Given the description of an element on the screen output the (x, y) to click on. 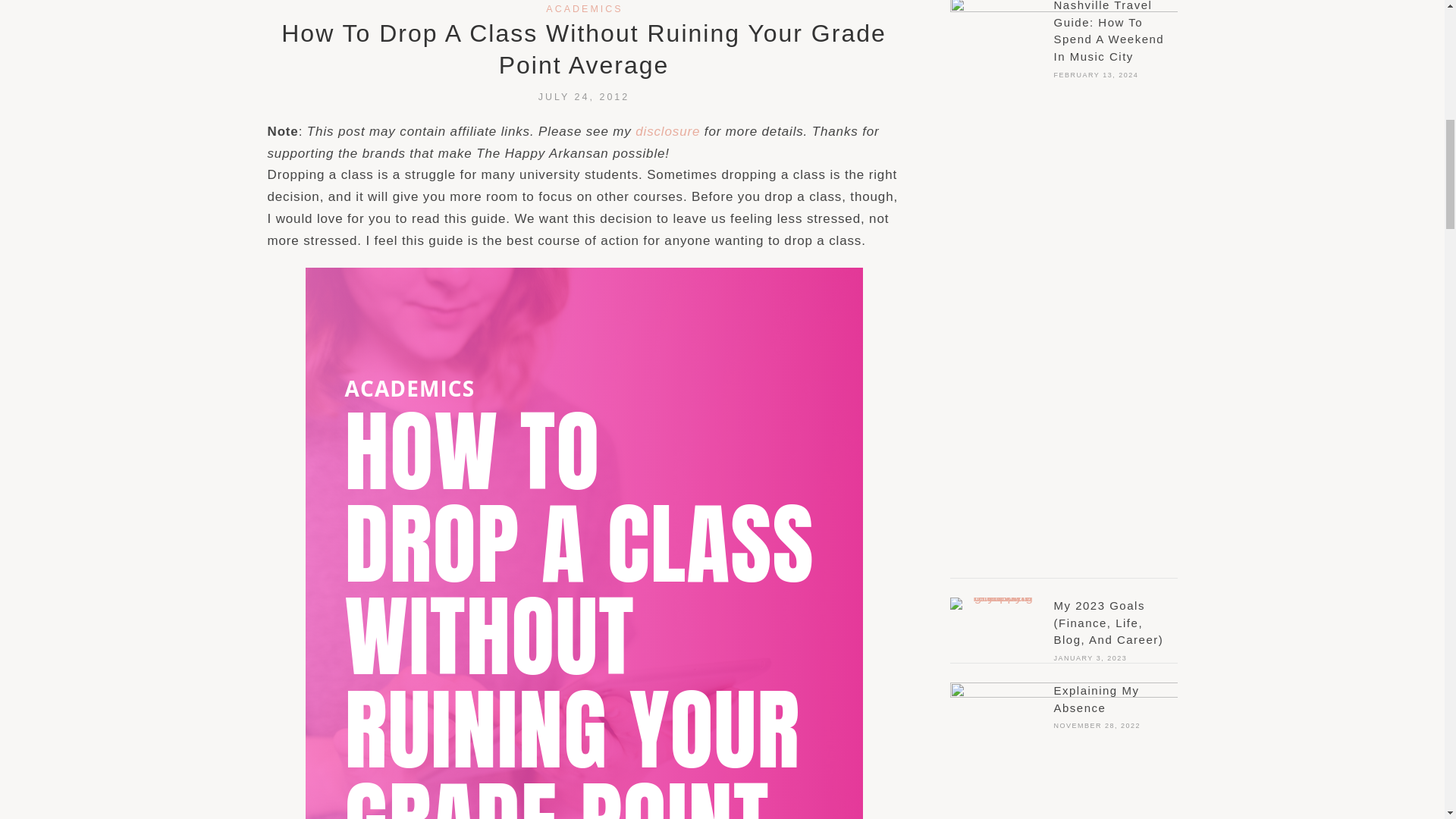
JULY 24, 2012 (584, 96)
disclosure (667, 131)
ACADEMICS (584, 9)
